Given the description of an element on the screen output the (x, y) to click on. 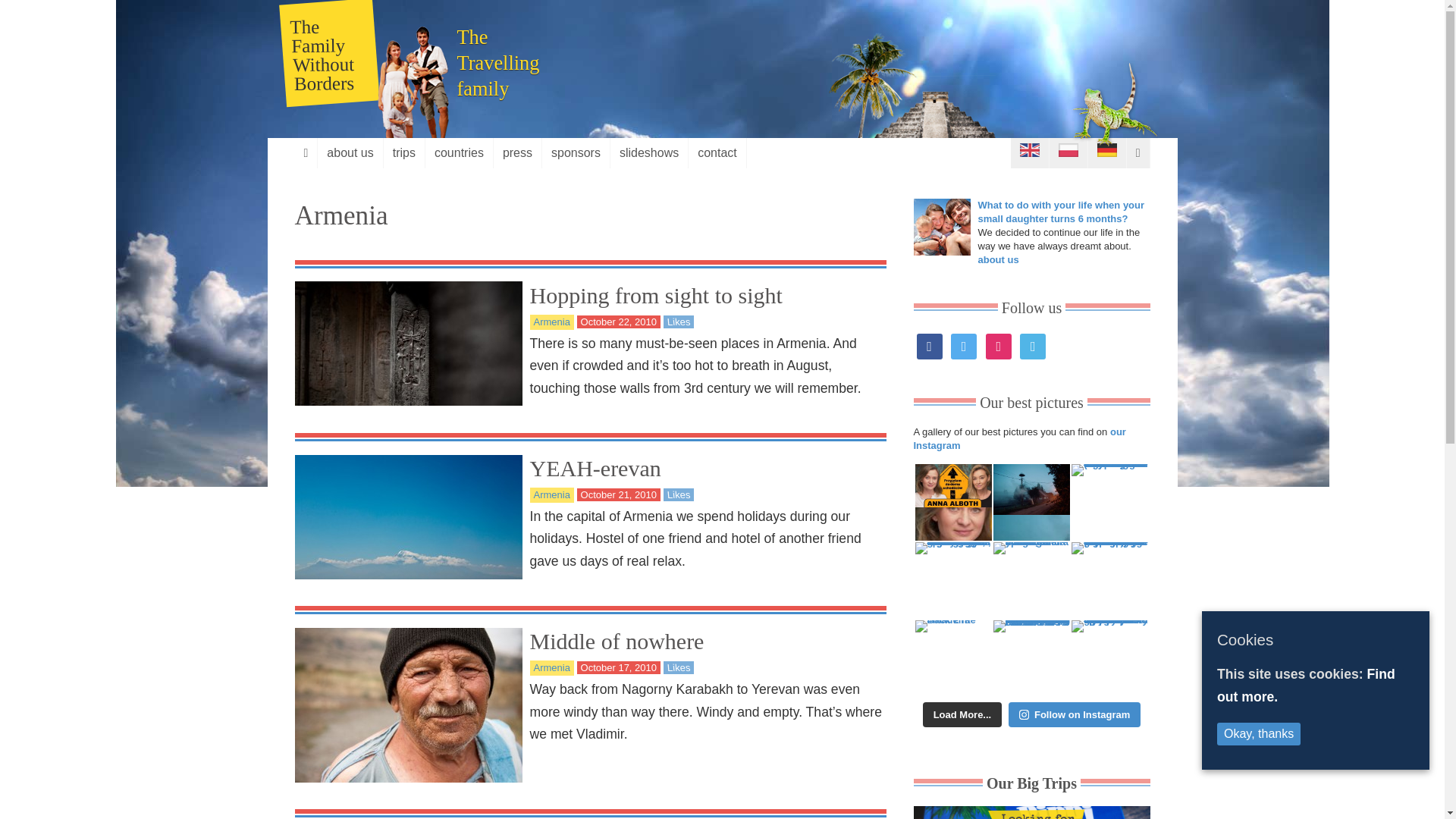
press (517, 153)
Read Hopping from sight to sight (655, 294)
trips (404, 153)
Read Middle of nowhere (616, 640)
countries (459, 153)
Read YEAH-erevan (595, 467)
View all posts in Armenia (552, 494)
View all posts in Armenia (552, 667)
about us (349, 153)
View all posts in Armenia (552, 321)
